Given the description of an element on the screen output the (x, y) to click on. 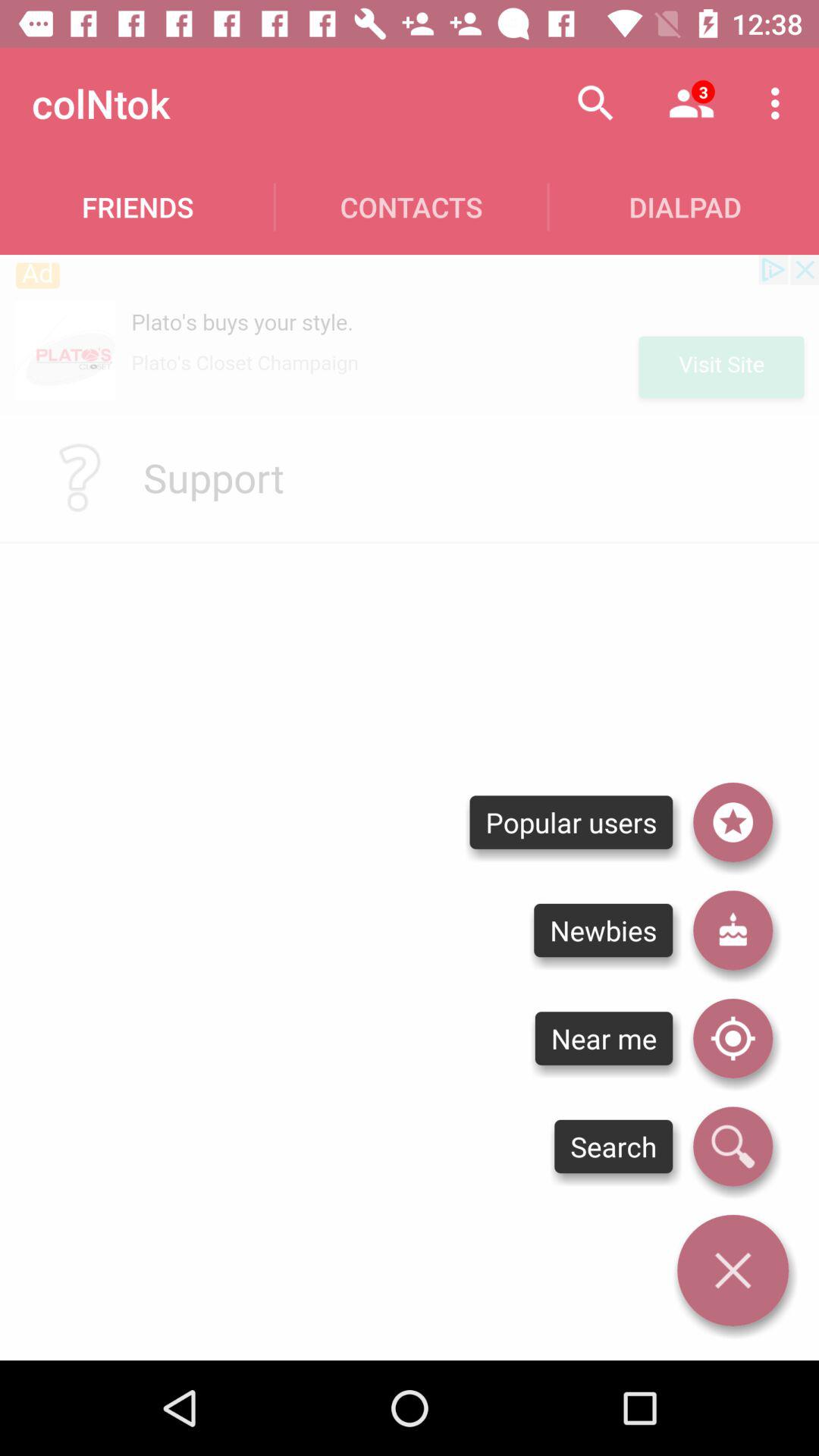
goto newbies (733, 930)
